Given the description of an element on the screen output the (x, y) to click on. 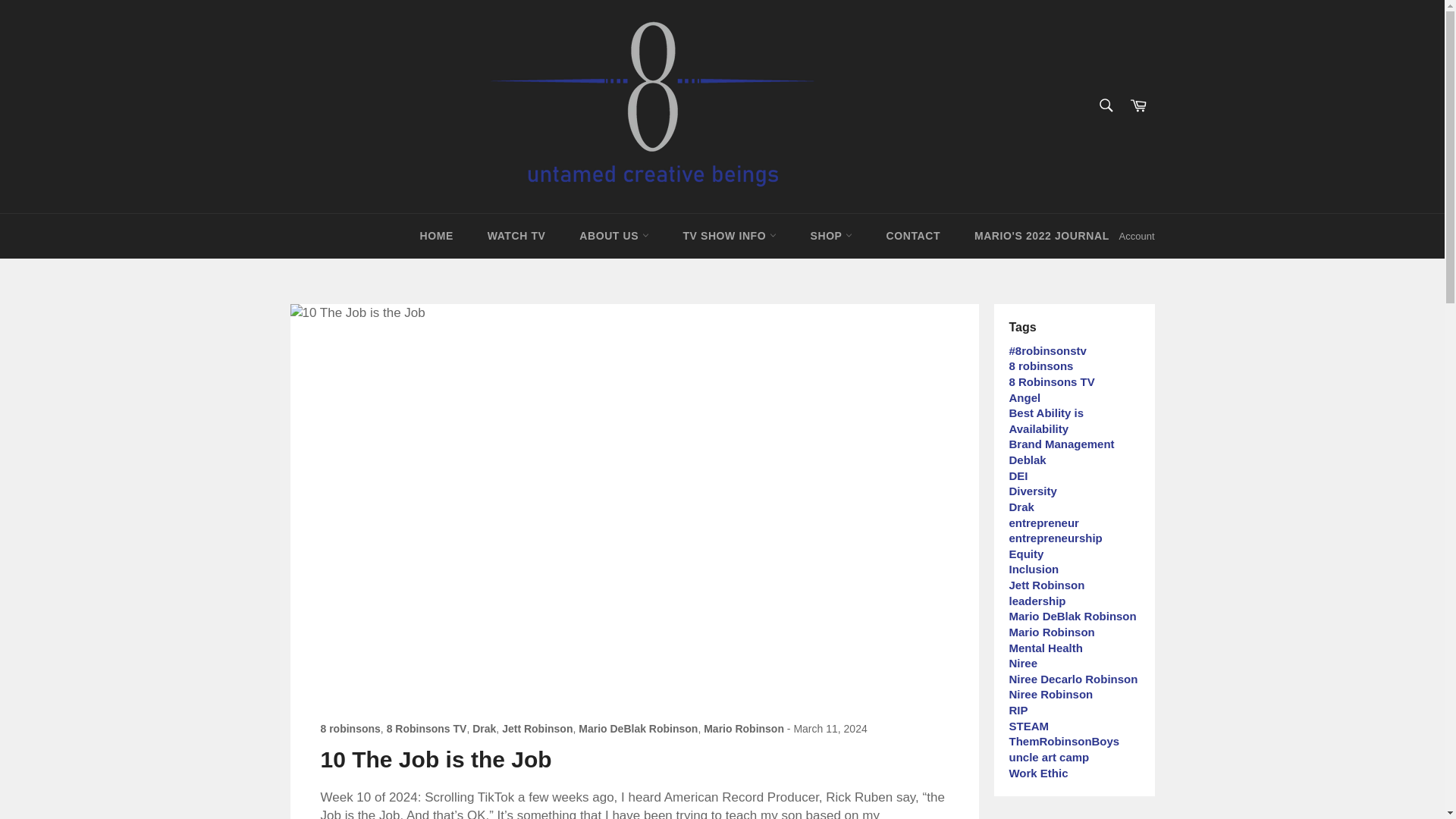
Show articles tagged Deblak (1027, 459)
Search (1104, 105)
Show articles tagged 8 Robinsons TV (1051, 381)
Show articles tagged leadership (1037, 600)
Show articles tagged Jett Robinson (1046, 584)
Show articles tagged entrepreneurship (1055, 537)
Show articles tagged entrepreneur (1043, 522)
Show articles tagged Drak (1021, 506)
Show articles tagged Equity (1026, 553)
Show articles tagged Brand Management (1061, 443)
